Given the description of an element on the screen output the (x, y) to click on. 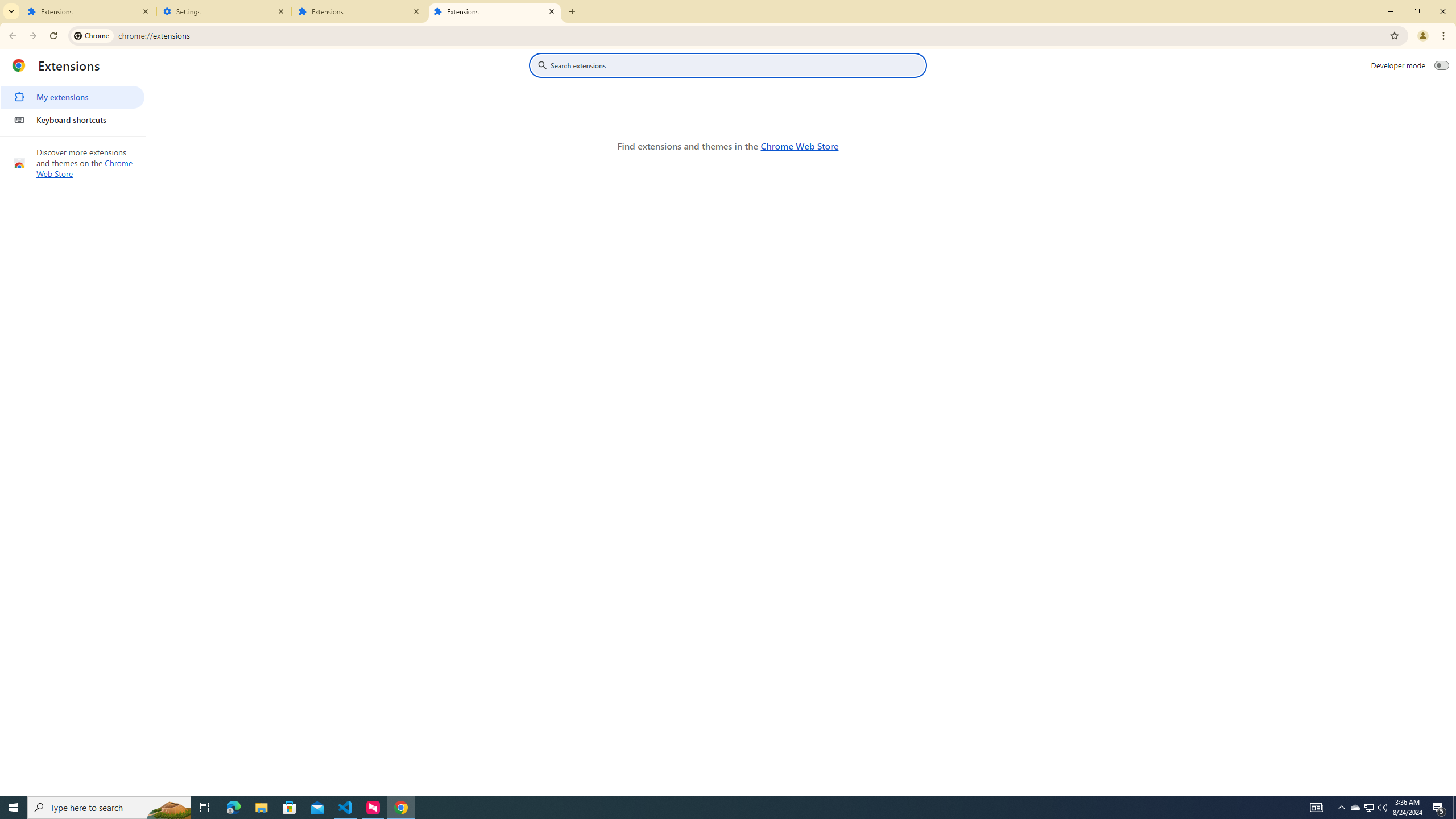
Extensions (494, 11)
Extensions (359, 11)
My extensions (72, 96)
Developer mode (1442, 64)
AutomationID: sectionMenu (72, 106)
Search extensions (735, 65)
